Given the description of an element on the screen output the (x, y) to click on. 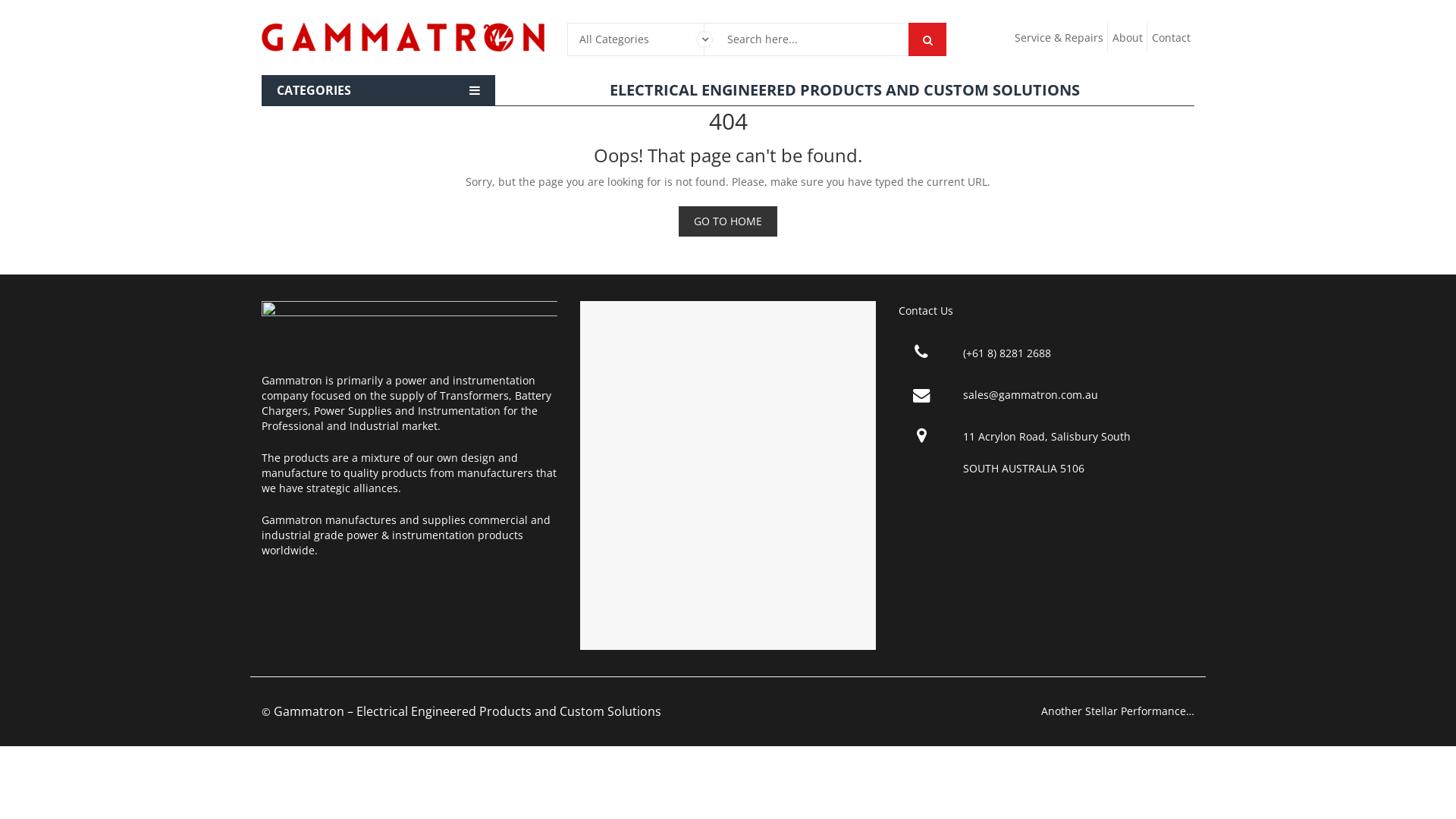
(+61 8) 8281 2688 Element type: text (1007, 353)
Contact Element type: text (1171, 37)
GO TO HOME Element type: text (727, 221)
All Categories Element type: text (635, 39)
sales@gammatron.com.au Element type: text (1030, 394)
Service & Repairs Element type: text (1058, 37)
About Element type: text (1127, 37)
